Given the description of an element on the screen output the (x, y) to click on. 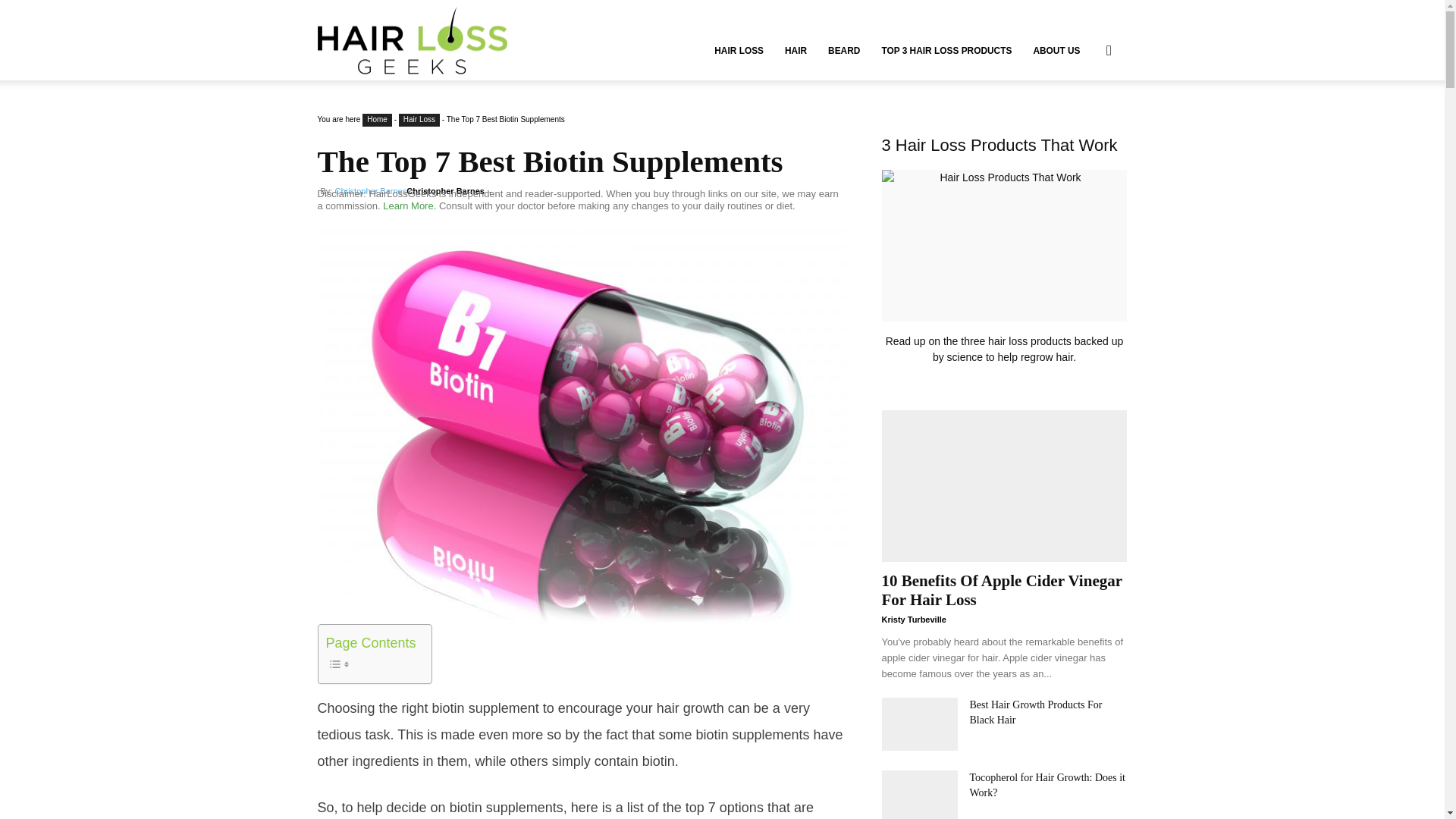
Hair Loss Products That Work (1003, 267)
Home (376, 119)
TOP 3 HAIR LOSS PRODUCTS (946, 50)
Hair Loss Geeks (411, 39)
The Top 7 Best Biotin Supplements (550, 161)
Hair Loss (418, 119)
The Top 7 Best Biotin Supplements (550, 161)
Search (1085, 122)
ABOUT US (1056, 50)
